Given the description of an element on the screen output the (x, y) to click on. 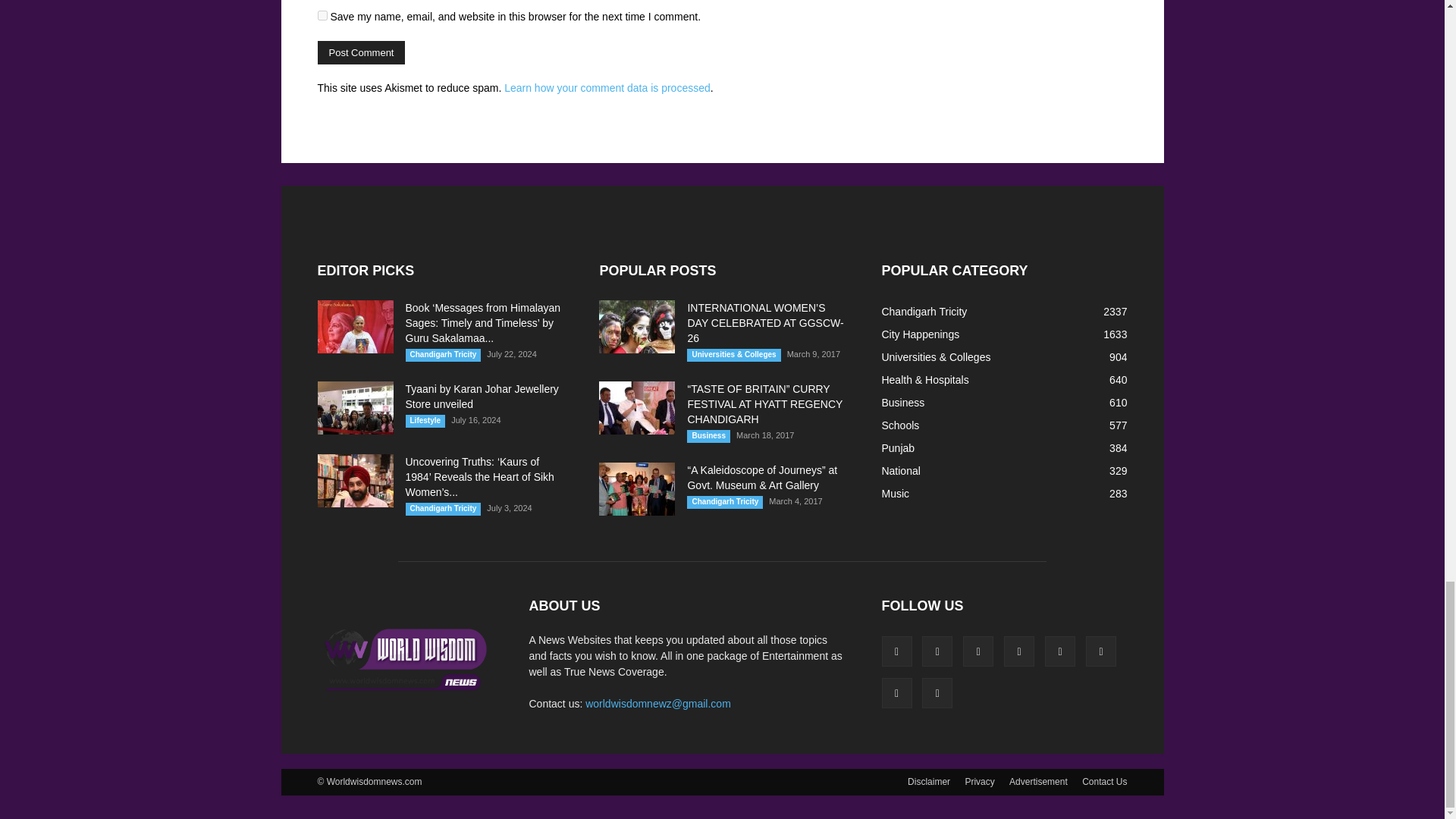
yes (321, 15)
Post Comment (360, 52)
